Given the description of an element on the screen output the (x, y) to click on. 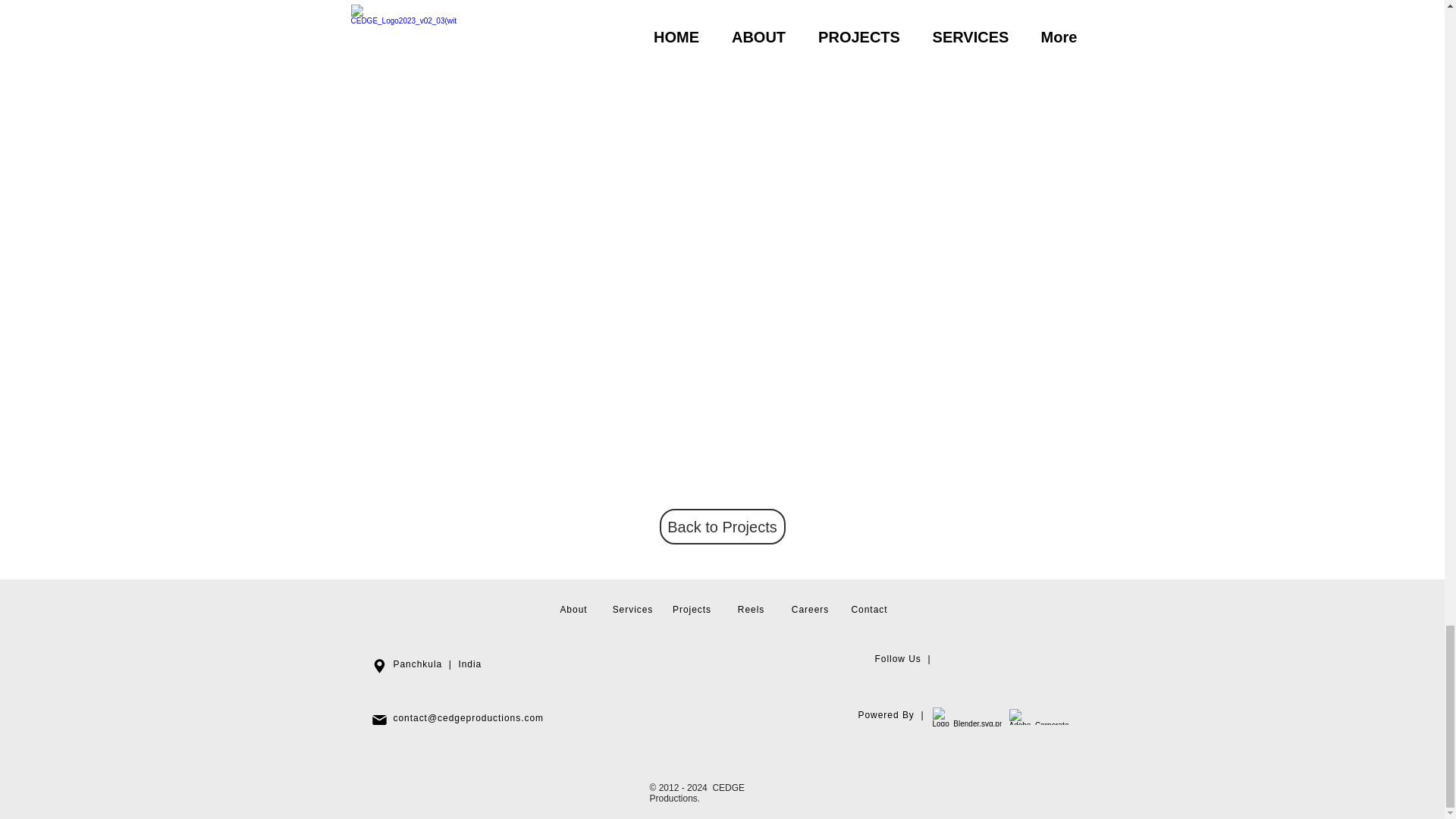
Careers (810, 609)
Contact (868, 609)
Projects (691, 609)
Reels (751, 609)
About (572, 609)
Services (632, 609)
Back to Projects (722, 526)
